Given the description of an element on the screen output the (x, y) to click on. 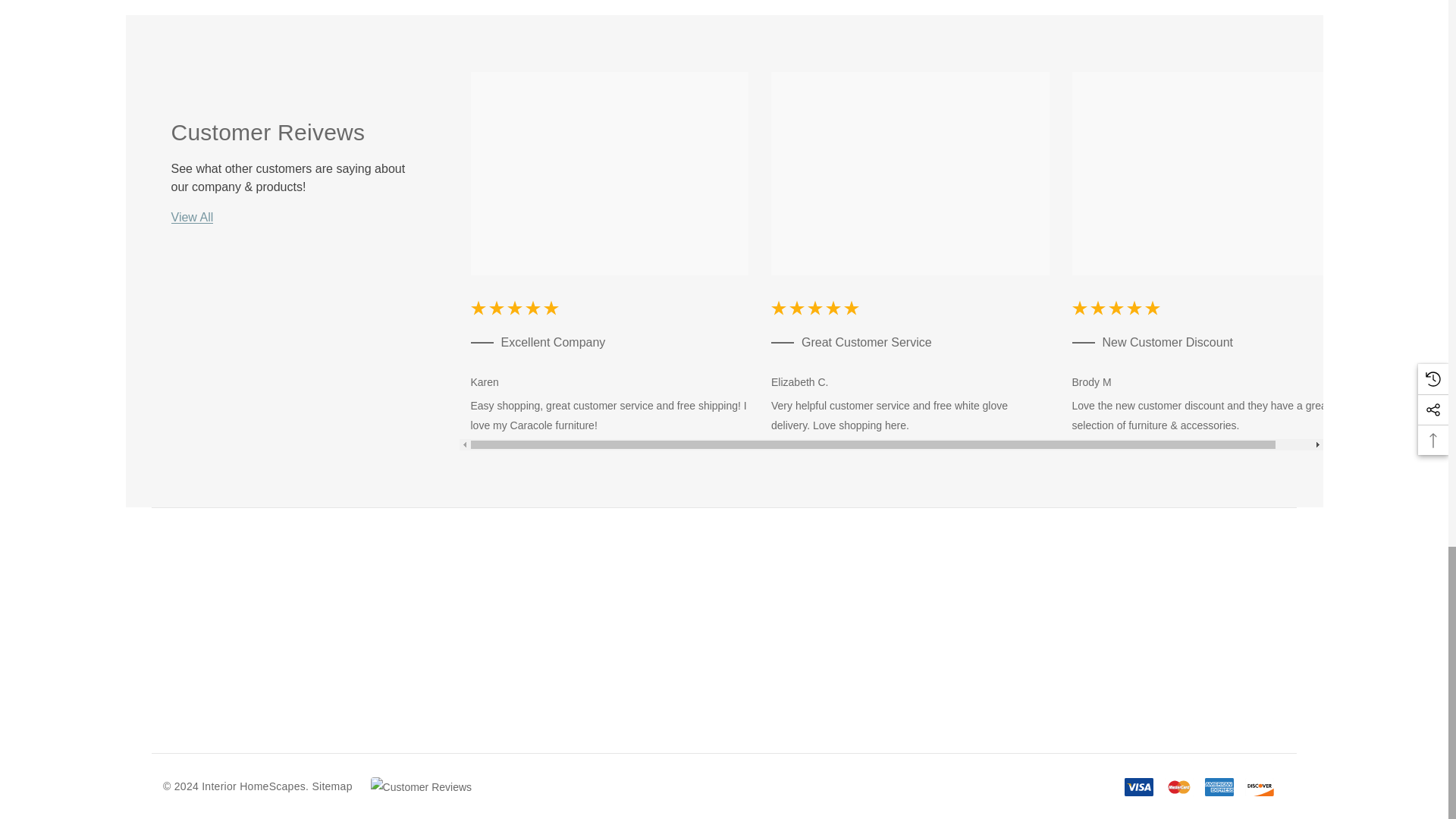
Visa Visa (1138, 787)
Mastercard Mastercard (1178, 787)
